Given the description of an element on the screen output the (x, y) to click on. 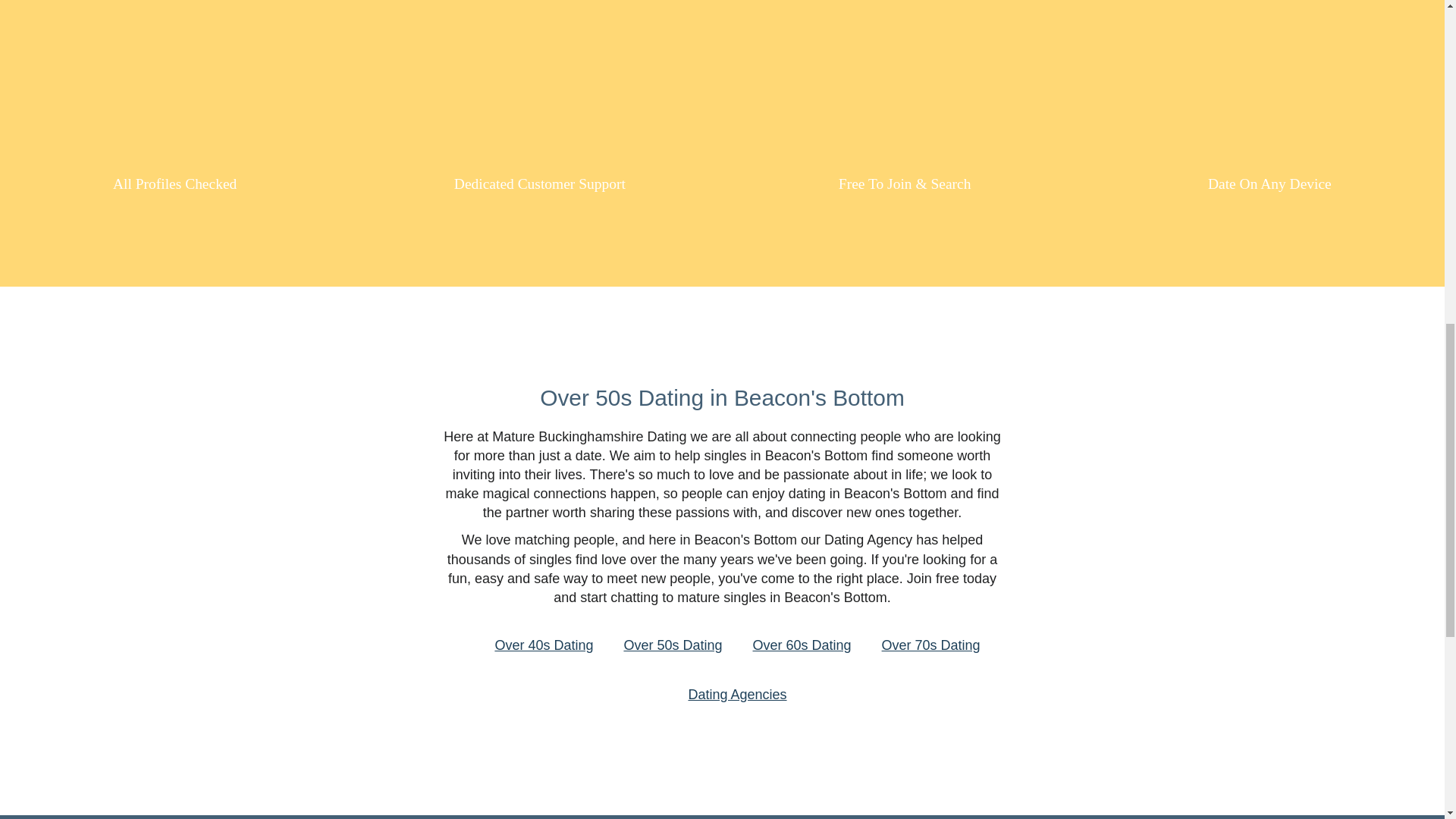
Over 50s Dating (672, 645)
Over 50s Dating Buckinghamshire (672, 645)
Dating Agencies (736, 694)
Over 40s Dating (543, 645)
Over 40s Dating Buckinghamshire (543, 645)
Buckinghamshire Dating Agency (736, 694)
Over 60s Dating Buckinghamshire (801, 645)
Over 70s Dating Buckinghamshire (930, 645)
Over 60s Dating (801, 645)
Over 70s Dating (930, 645)
